Given the description of an element on the screen output the (x, y) to click on. 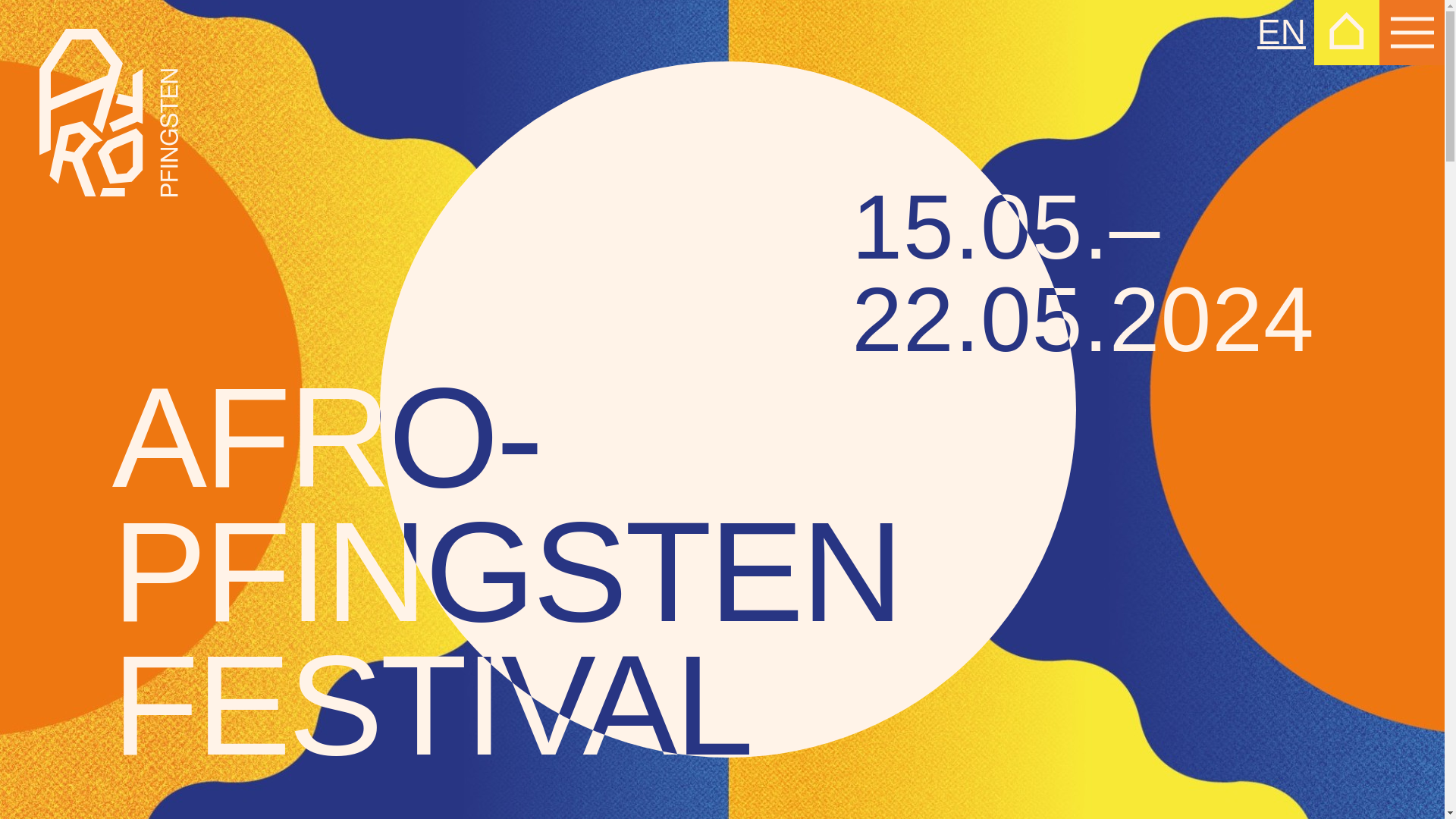
Afro-Pfingsten Winterthur Element type: hover (108, 112)
zur Startseite Element type: hover (1346, 32)
EN Element type: text (1281, 32)
Afro-Pfingsten Winterthur Element type: hover (108, 112)
